Given the description of an element on the screen output the (x, y) to click on. 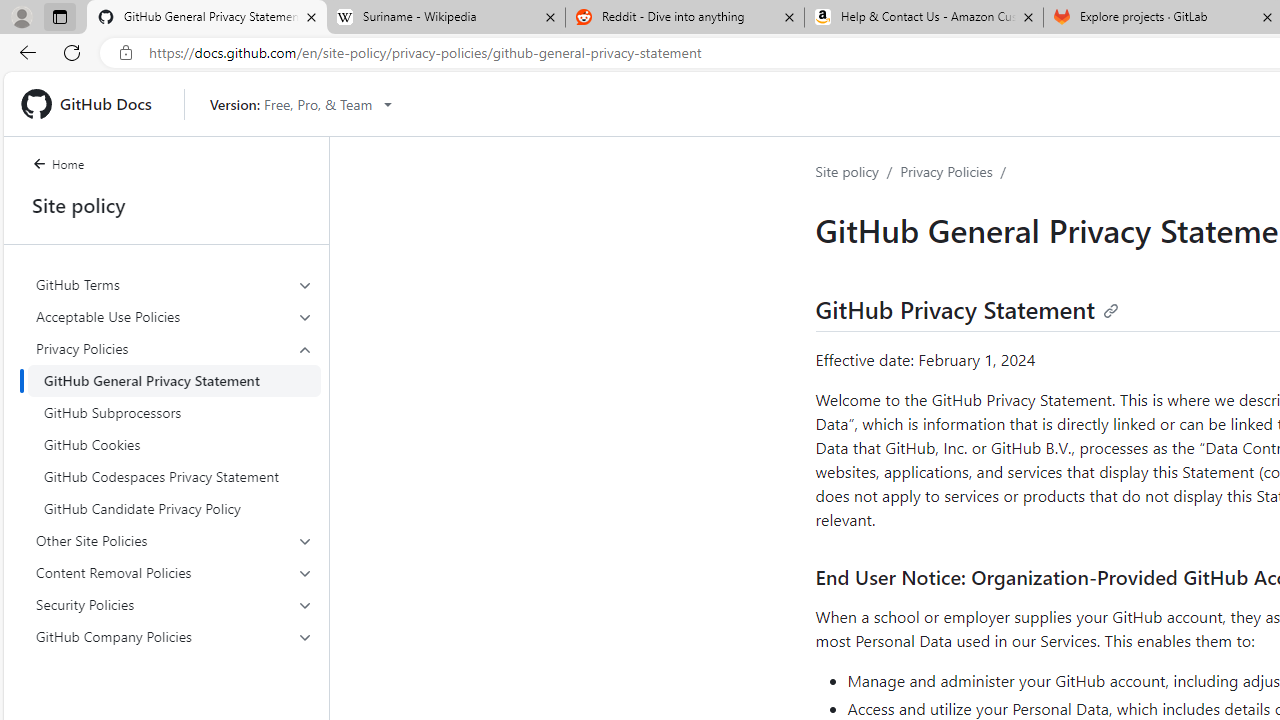
Site policy (847, 171)
GitHub Terms (174, 284)
Other Site Policies (174, 540)
GitHub Subprocessors (174, 412)
Site policy/ (858, 171)
GitHub Cookies (174, 444)
GitHub Codespaces Privacy Statement (174, 476)
Security Policies (174, 604)
GitHub Candidate Privacy Policy (174, 508)
